Given the description of an element on the screen output the (x, y) to click on. 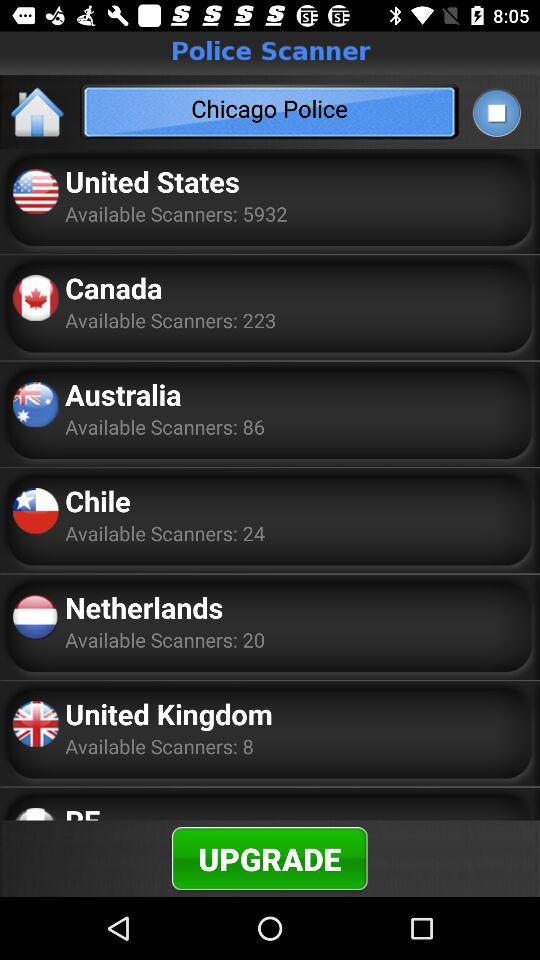
flip until united kingdom item (169, 713)
